Given the description of an element on the screen output the (x, y) to click on. 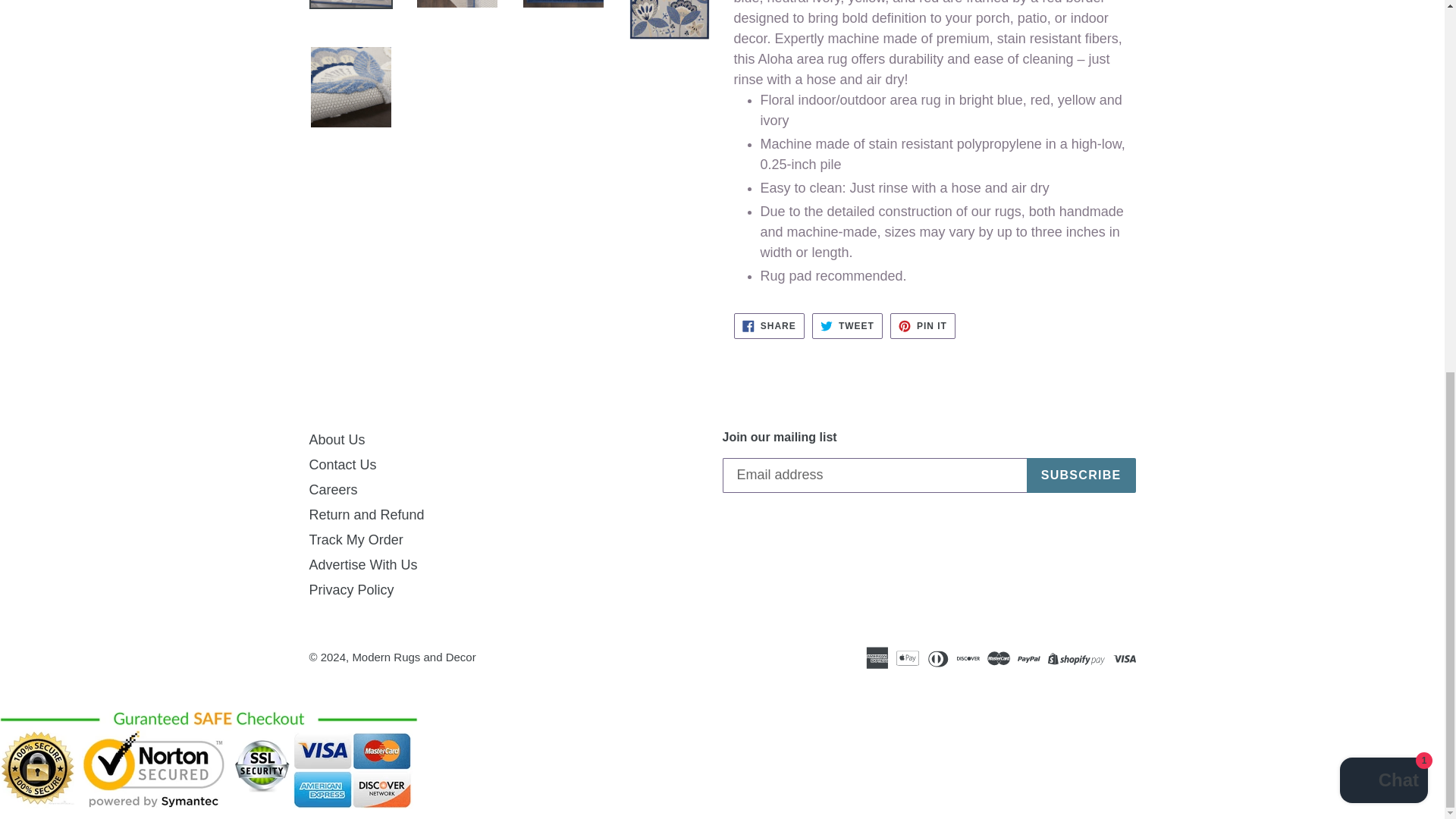
Share on Facebook (769, 325)
Shopify online store chat (1383, 101)
Pin on Pinterest (922, 325)
Tweet on Twitter (847, 325)
